Given the description of an element on the screen output the (x, y) to click on. 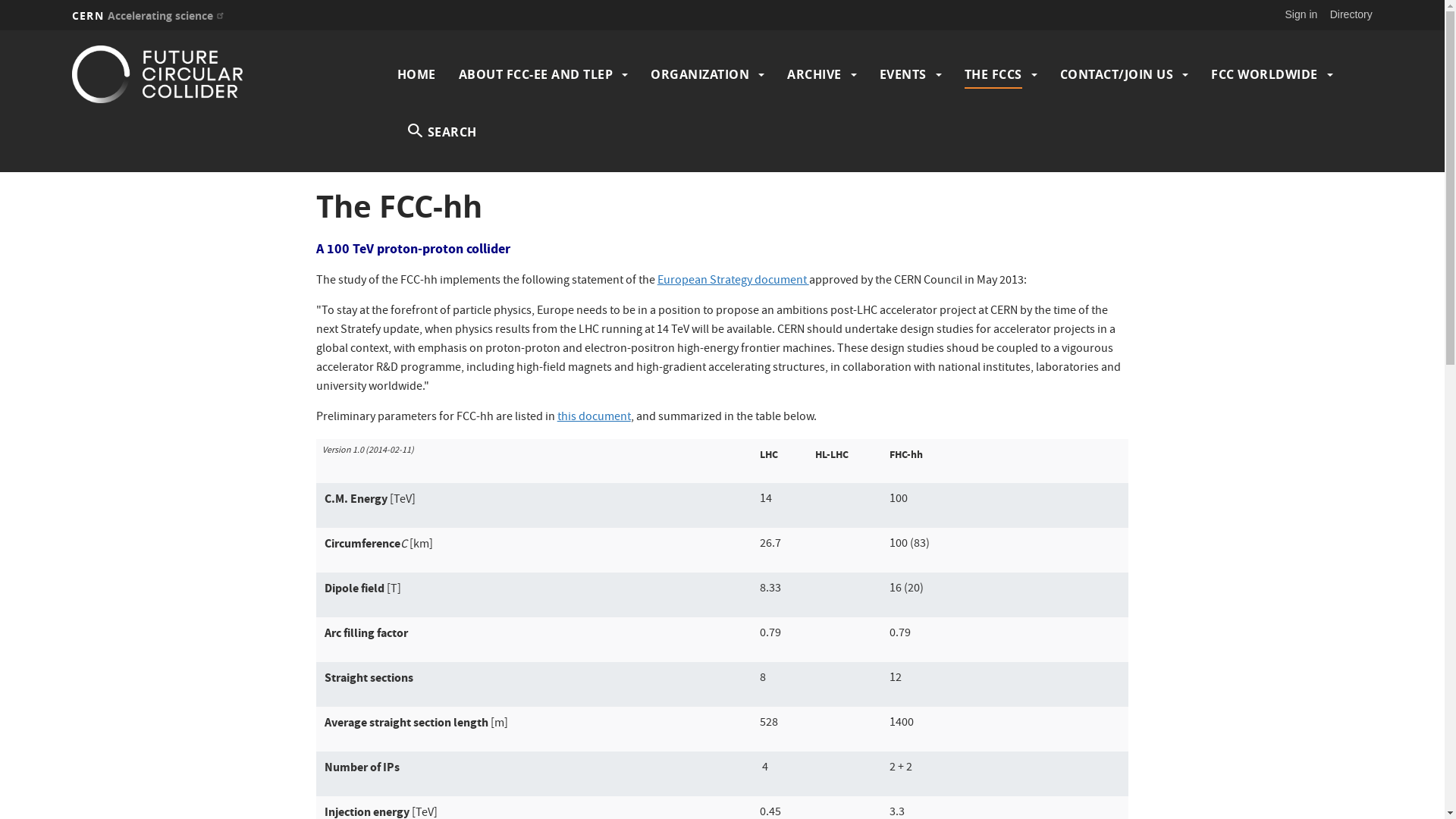
Directory Element type: text (1351, 14)
ARCHIVE Element type: text (814, 74)
European Strategy document Element type: text (733, 281)
SEARCH Element type: text (442, 131)
Sign in Element type: text (1301, 14)
ABOUT FCC-EE AND TLEP Element type: text (535, 74)
ORGANIZATION Element type: text (699, 74)
FCC WORLDWIDE Element type: text (1264, 74)
HOME Element type: text (416, 74)
CONTACT/JOIN US Element type: text (1116, 74)
THE FCCS Element type: text (993, 74)
this document Element type: text (593, 417)
EVENTS Element type: text (902, 74)
Home Element type: hover (230, 74)
CERN Accelerating science (link is external) Element type: text (149, 14)
Skip to main content Element type: text (0, 30)
